Given the description of an element on the screen output the (x, y) to click on. 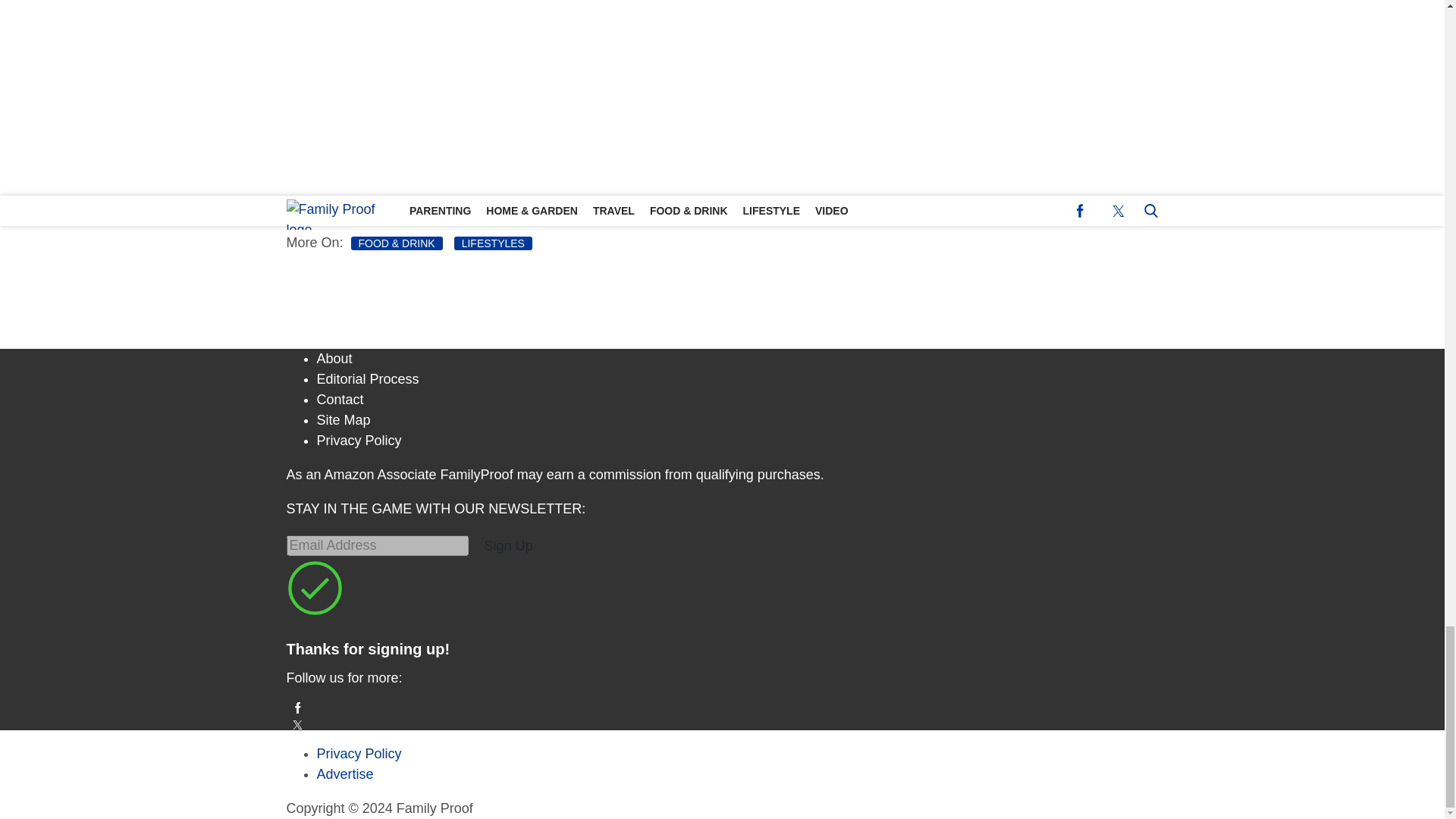
Follow us on Twitter (722, 724)
Advertise (345, 774)
Check out Vybes here (545, 194)
LIFESTYLES (493, 243)
Privacy Policy (359, 440)
About (334, 358)
Sign Up (507, 546)
Follow us on Facebook (722, 707)
Editorial Process (368, 378)
Check out Tempo Beverages here (597, 65)
